Given the description of an element on the screen output the (x, y) to click on. 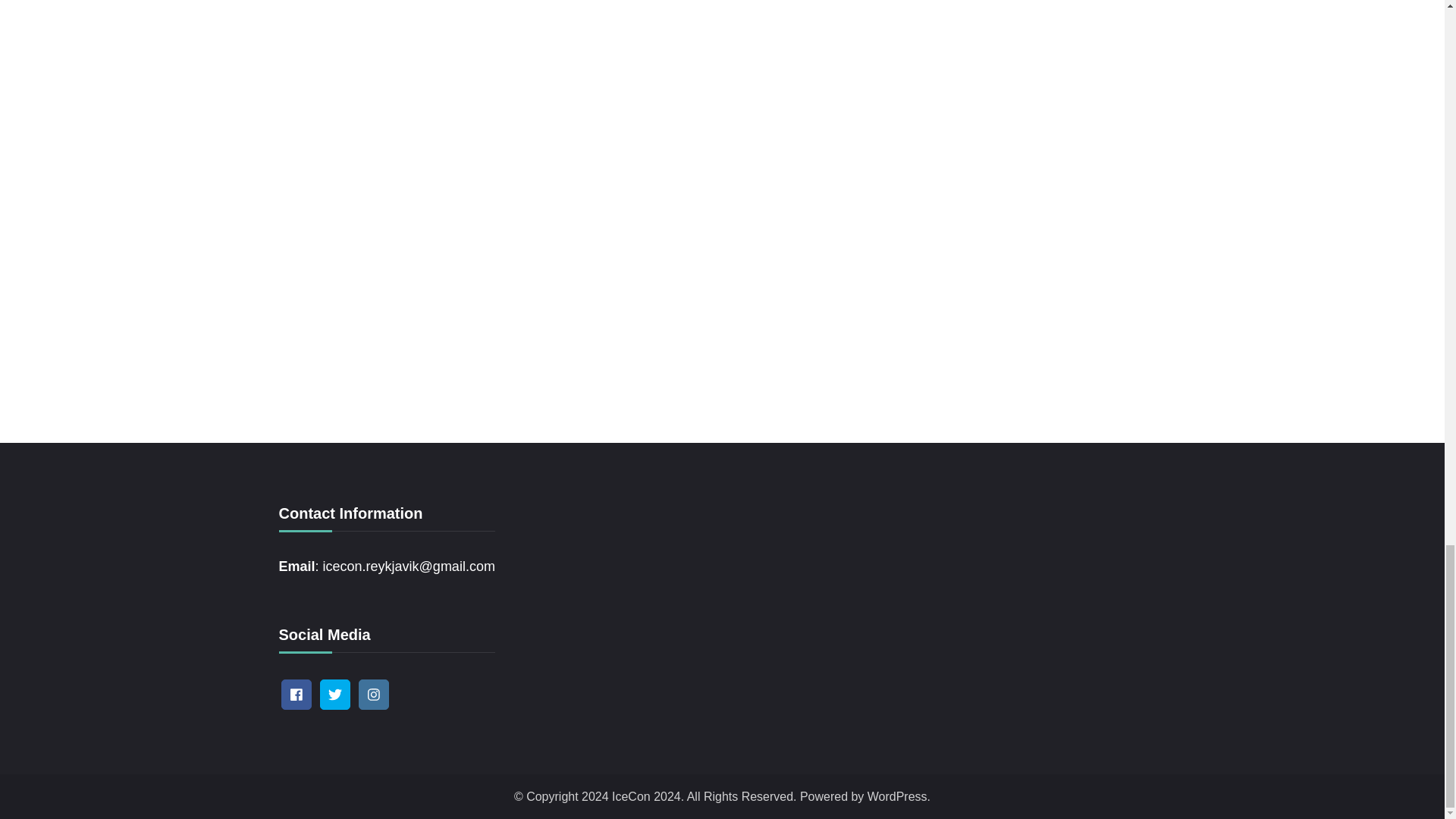
facebook (296, 694)
twitter (335, 694)
instagram (373, 694)
